Given the description of an element on the screen output the (x, y) to click on. 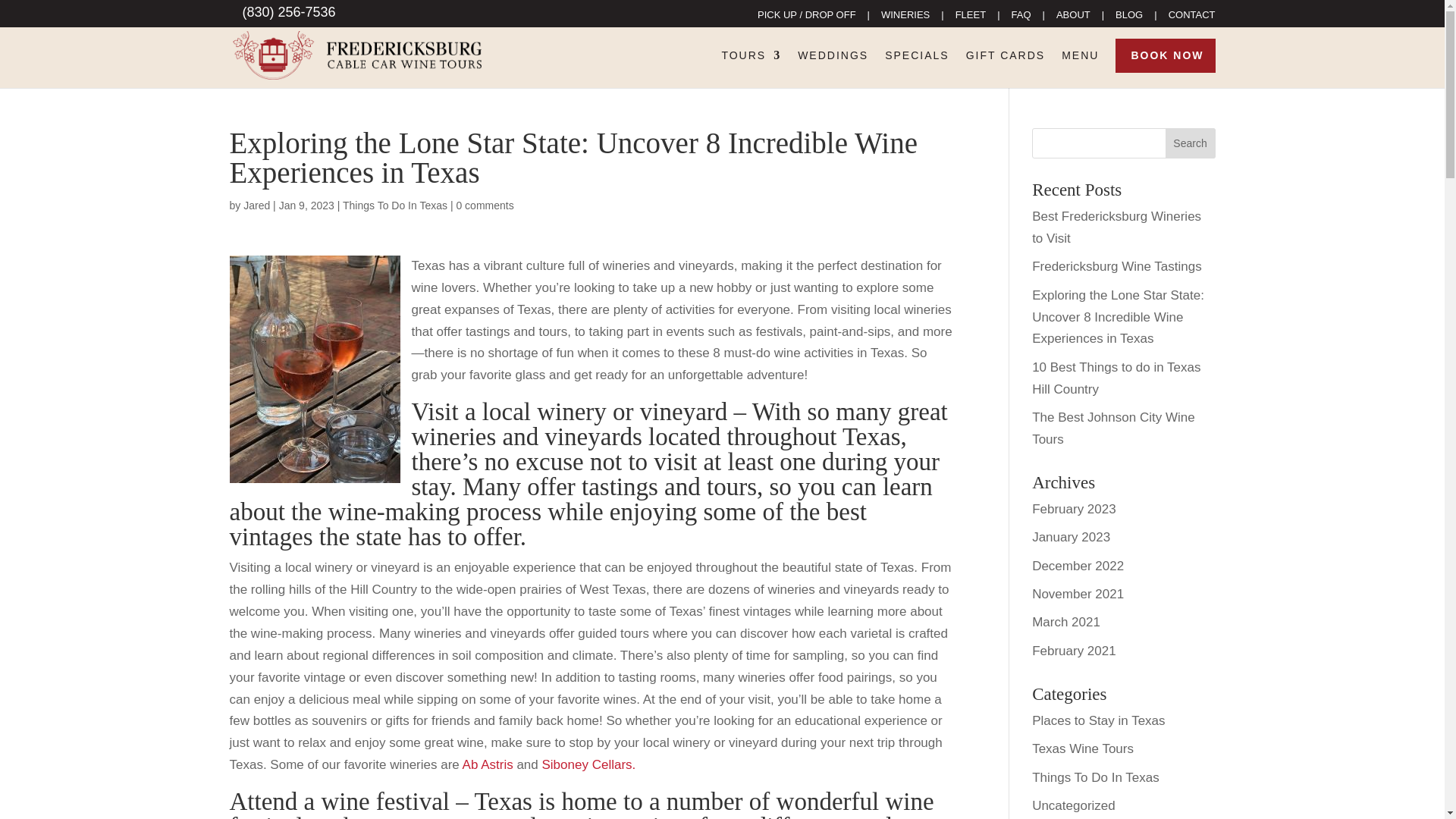
BLOG (1128, 18)
Posts by Jared (256, 205)
WINERIES (905, 18)
CONTACT (1192, 18)
GIFT CARDS (1005, 66)
SPECIALS (917, 66)
FAQ (1020, 18)
BOOK NOW (1167, 66)
ABOUT (1073, 18)
MENU (1080, 66)
